Given the description of an element on the screen output the (x, y) to click on. 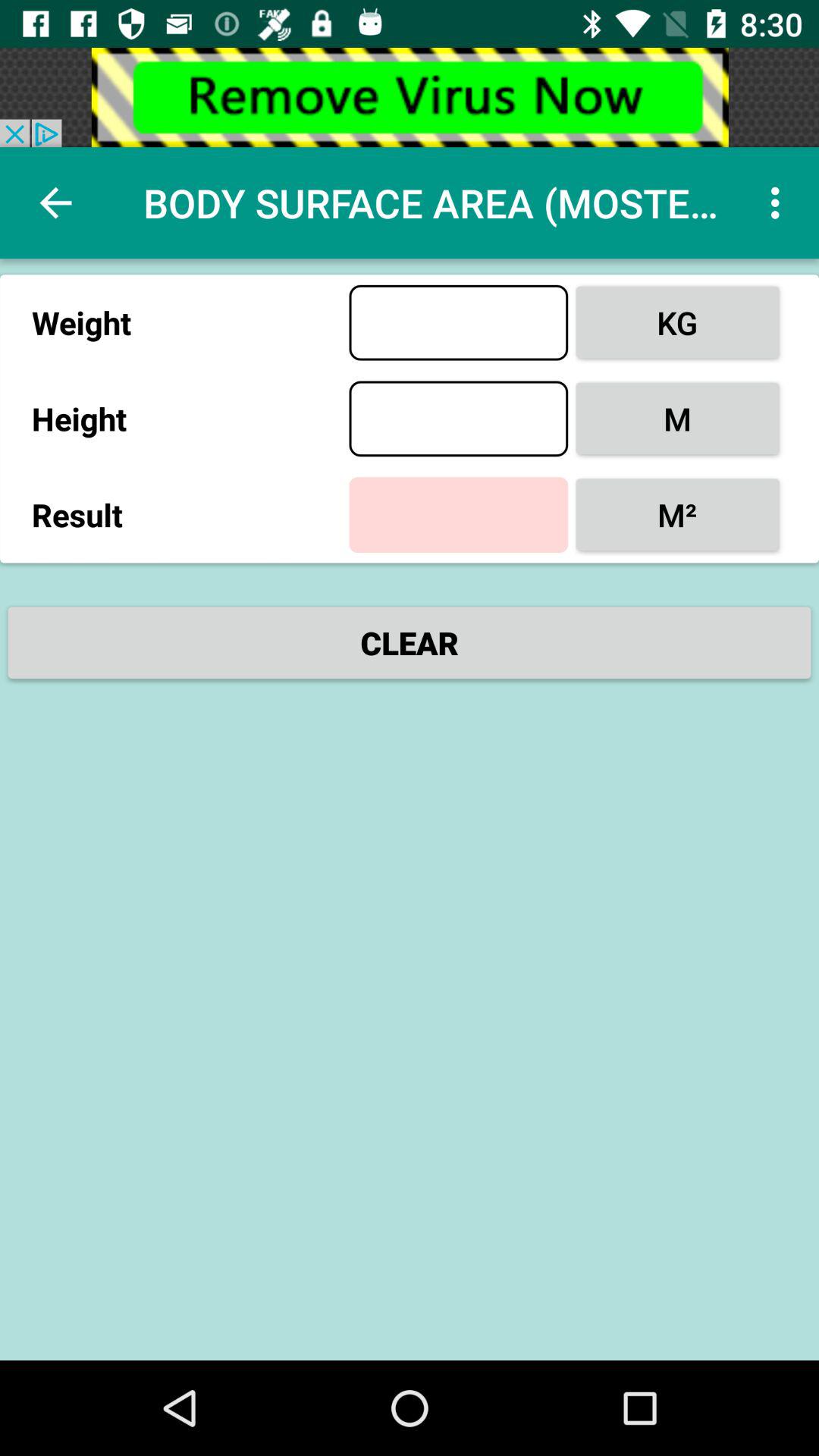
enter height (458, 418)
